Given the description of an element on the screen output the (x, y) to click on. 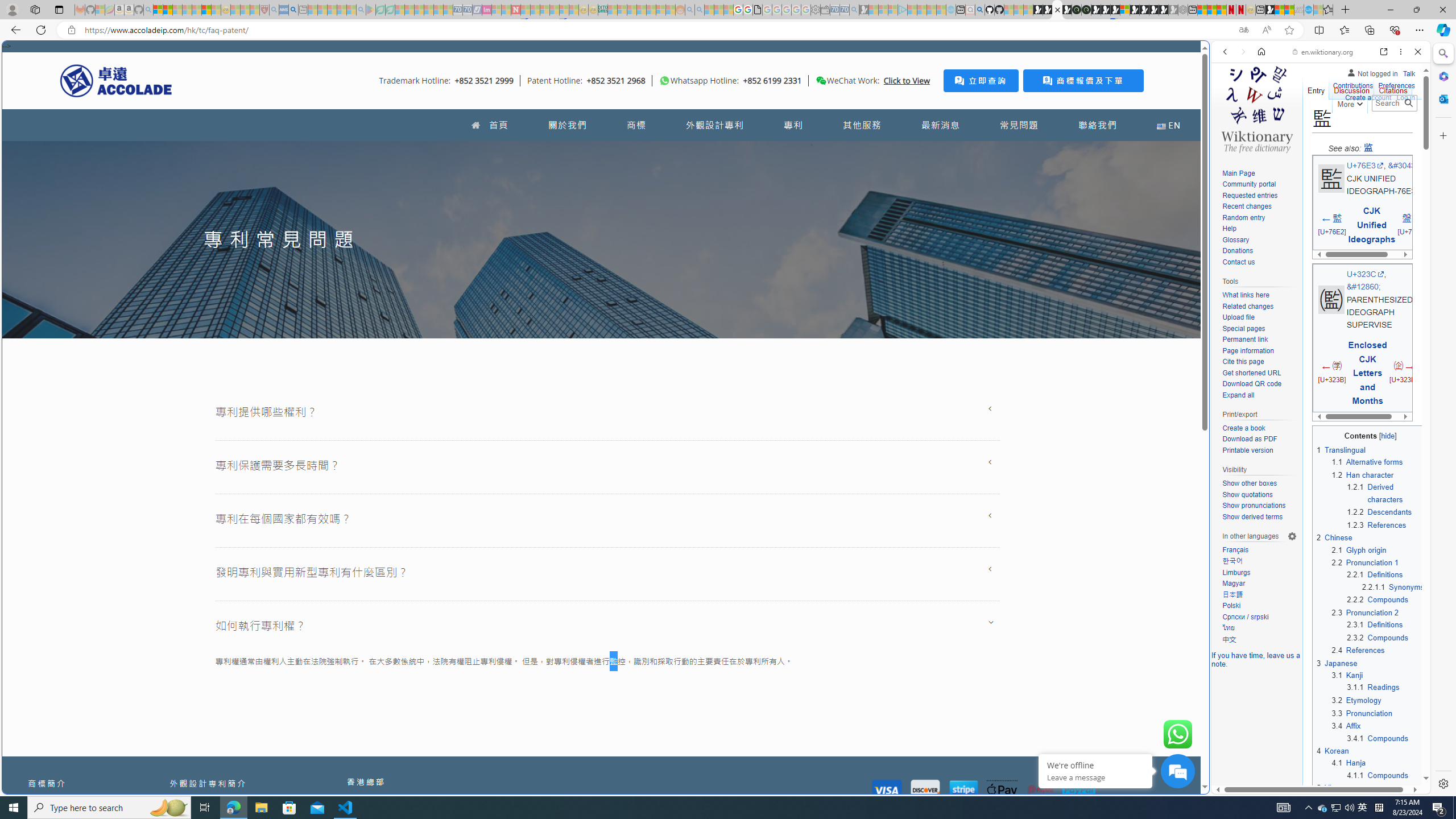
Special pages (1243, 328)
Services - Maintenance | Sky Blue Bikes - Sky Blue Bikes (1307, 9)
1.2.2Descendants (1385, 512)
Random entry (1243, 216)
Log in (1405, 98)
Related changes (1259, 306)
Download QR code (1251, 384)
